Given the description of an element on the screen output the (x, y) to click on. 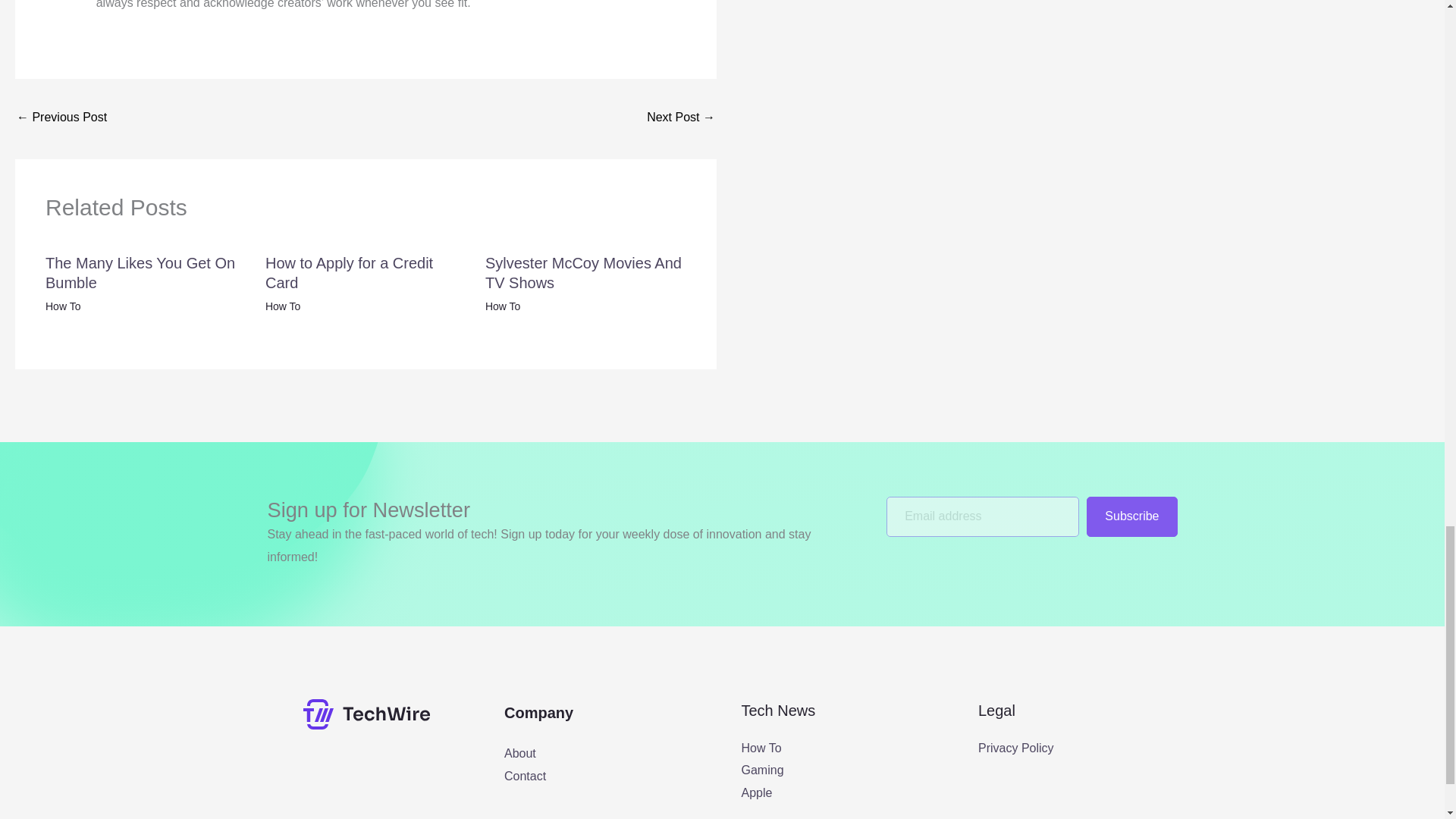
How To Sign PDF With CAC (680, 118)
How to Remove Viruses from an iPad (61, 118)
Privacy Policy (1016, 748)
Contact (524, 775)
How To (501, 306)
Apple (757, 792)
Sylvester McCoy Movies And TV Shows (582, 272)
About (519, 753)
Subscribe (1131, 516)
The Many Likes You Get On Bumble (139, 272)
How To (62, 306)
How to Apply for a Credit Card (348, 272)
Gaming (762, 769)
Please fill in this field. (982, 516)
How To (761, 748)
